Given the description of an element on the screen output the (x, y) to click on. 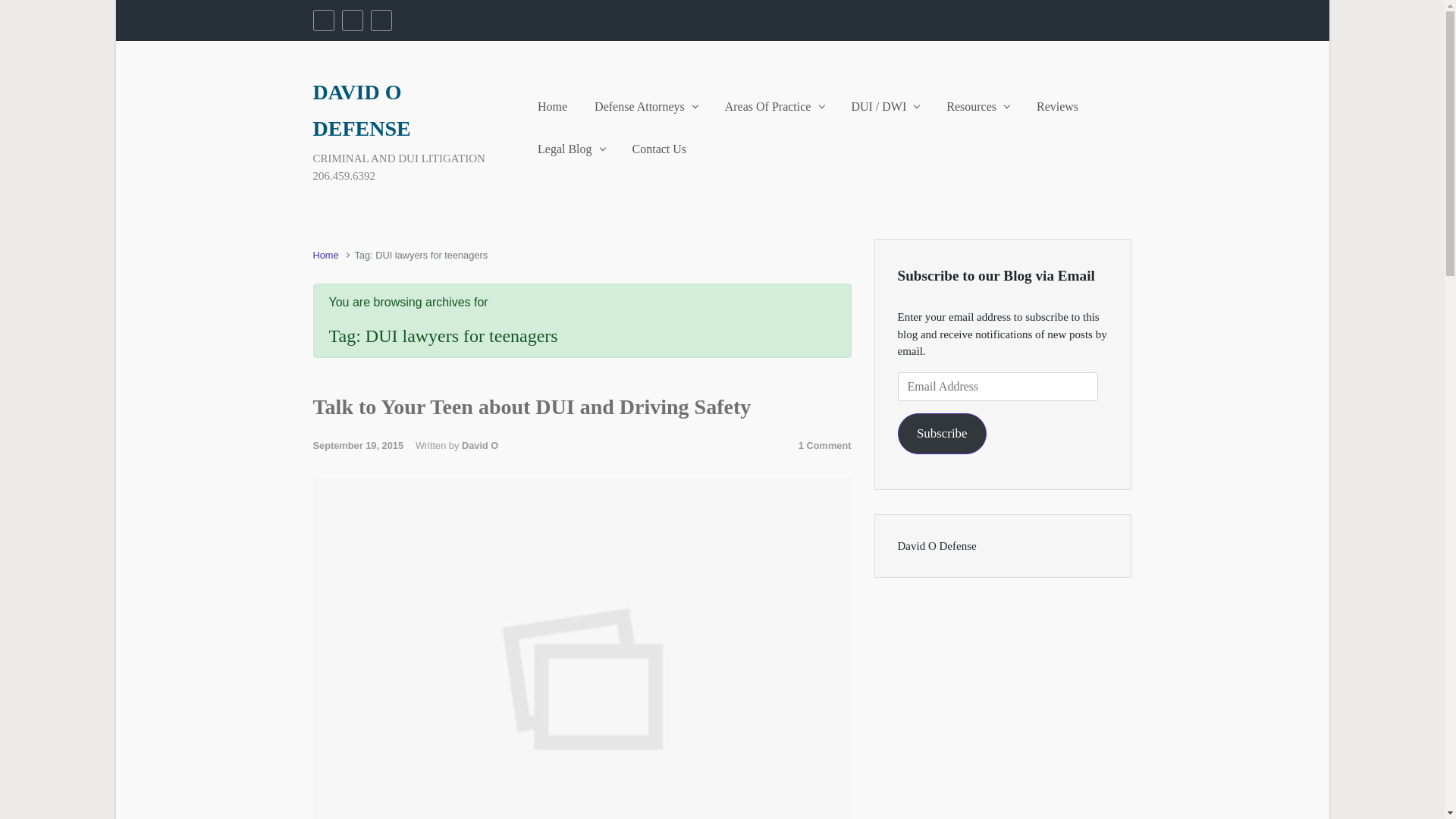
Reviews (1057, 106)
View all posts by David O (479, 445)
Areas Of Practice (774, 106)
Defense Attorneys (645, 106)
DAVID O DEFENSE (361, 110)
Resources (977, 106)
Legal Blog (571, 148)
Home (552, 106)
